Given the description of an element on the screen output the (x, y) to click on. 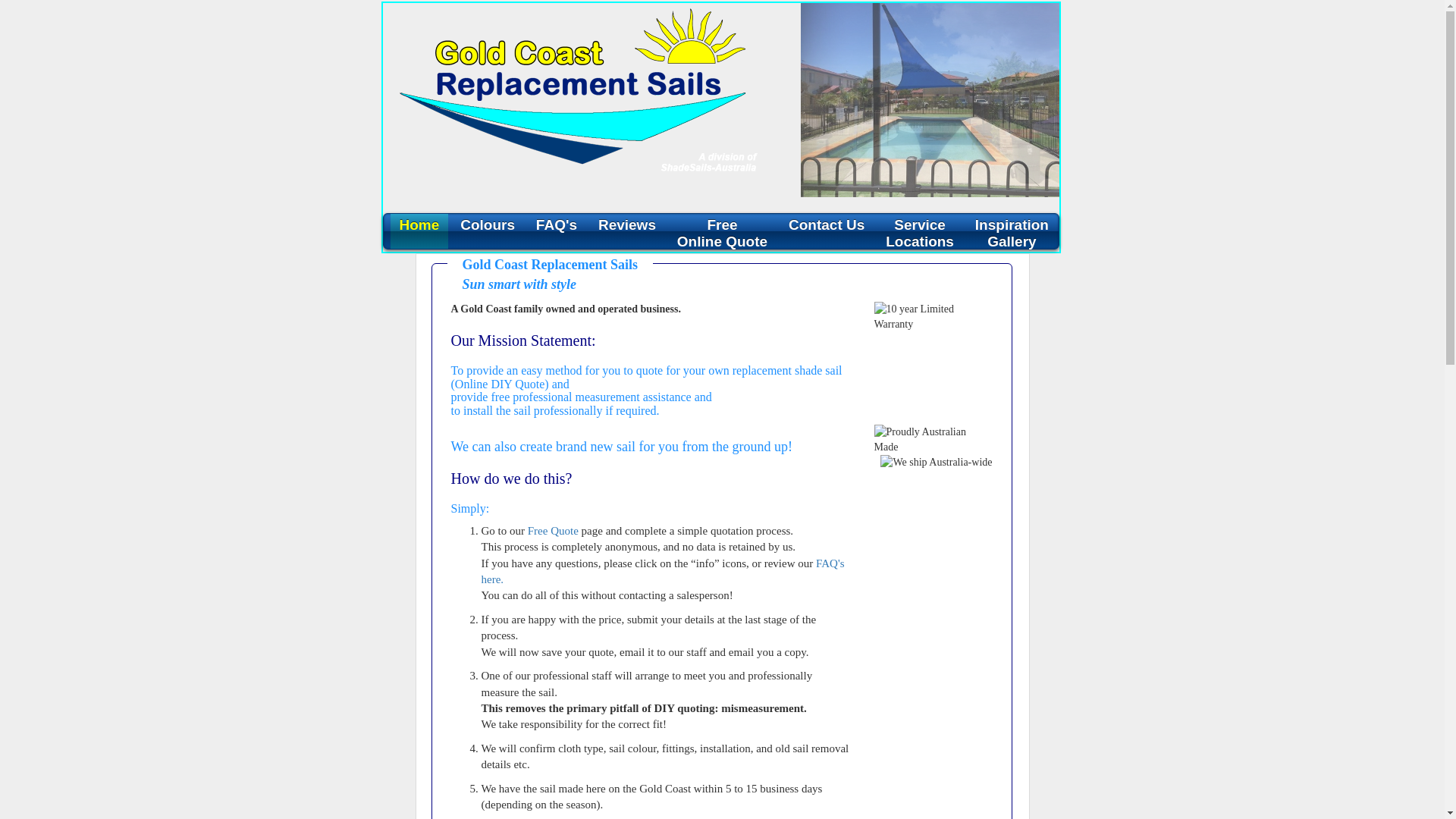
FAQ's here. Element type: text (662, 571)
Inspiration
Gallery Element type: text (1011, 230)
Contact Us
  Element type: text (826, 230)
Reviews
  Element type: text (627, 230)
Home
  Element type: text (418, 230)
Service
Locations Element type: text (919, 230)
Free
Online Quote Element type: text (722, 230)
Free Quote Element type: text (552, 530)
FAQ's
  Element type: text (556, 230)
Colours
  Element type: text (487, 230)
